Given the description of an element on the screen output the (x, y) to click on. 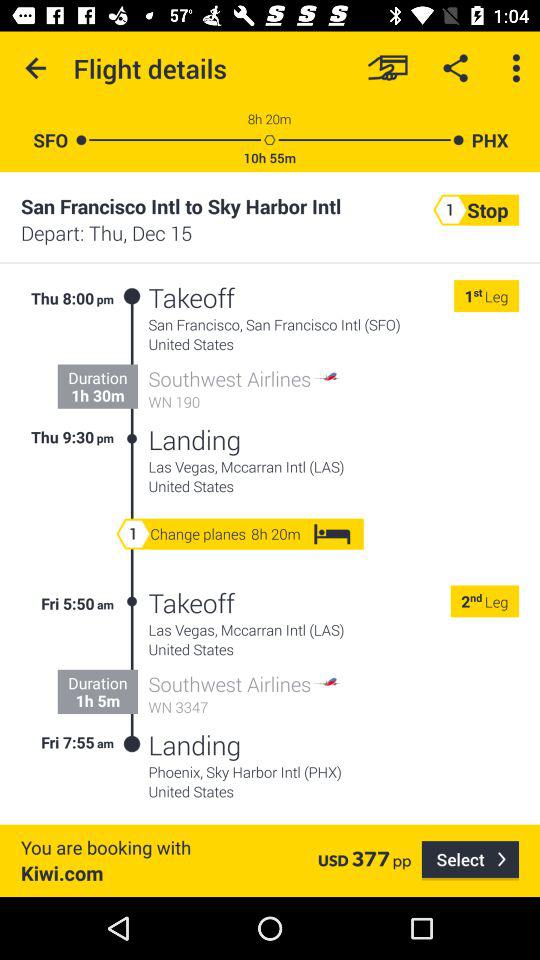
open 1h 30m (97, 395)
